Given the description of an element on the screen output the (x, y) to click on. 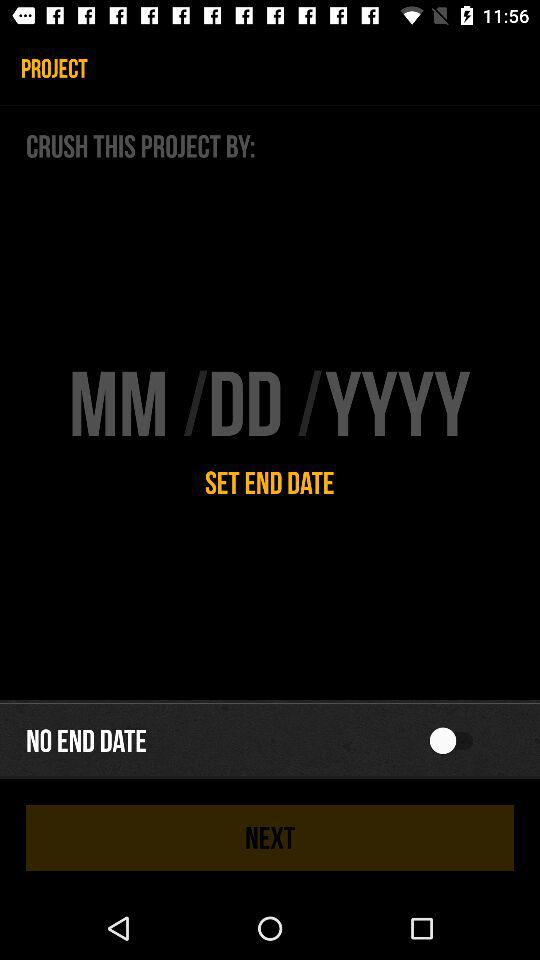
tap next item (269, 837)
